Given the description of an element on the screen output the (x, y) to click on. 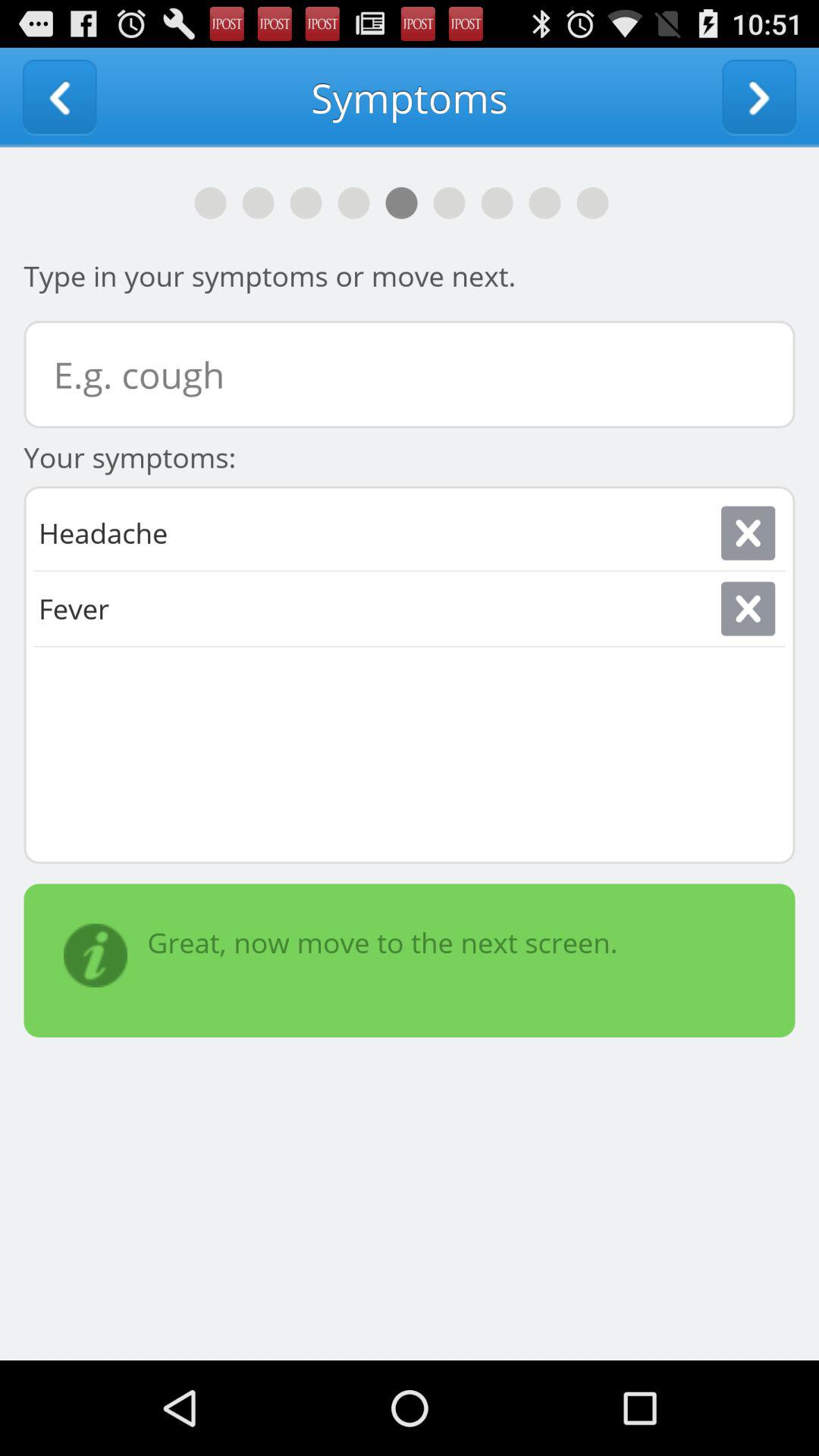
symptoms textbox (409, 374)
